Given the description of an element on the screen output the (x, y) to click on. 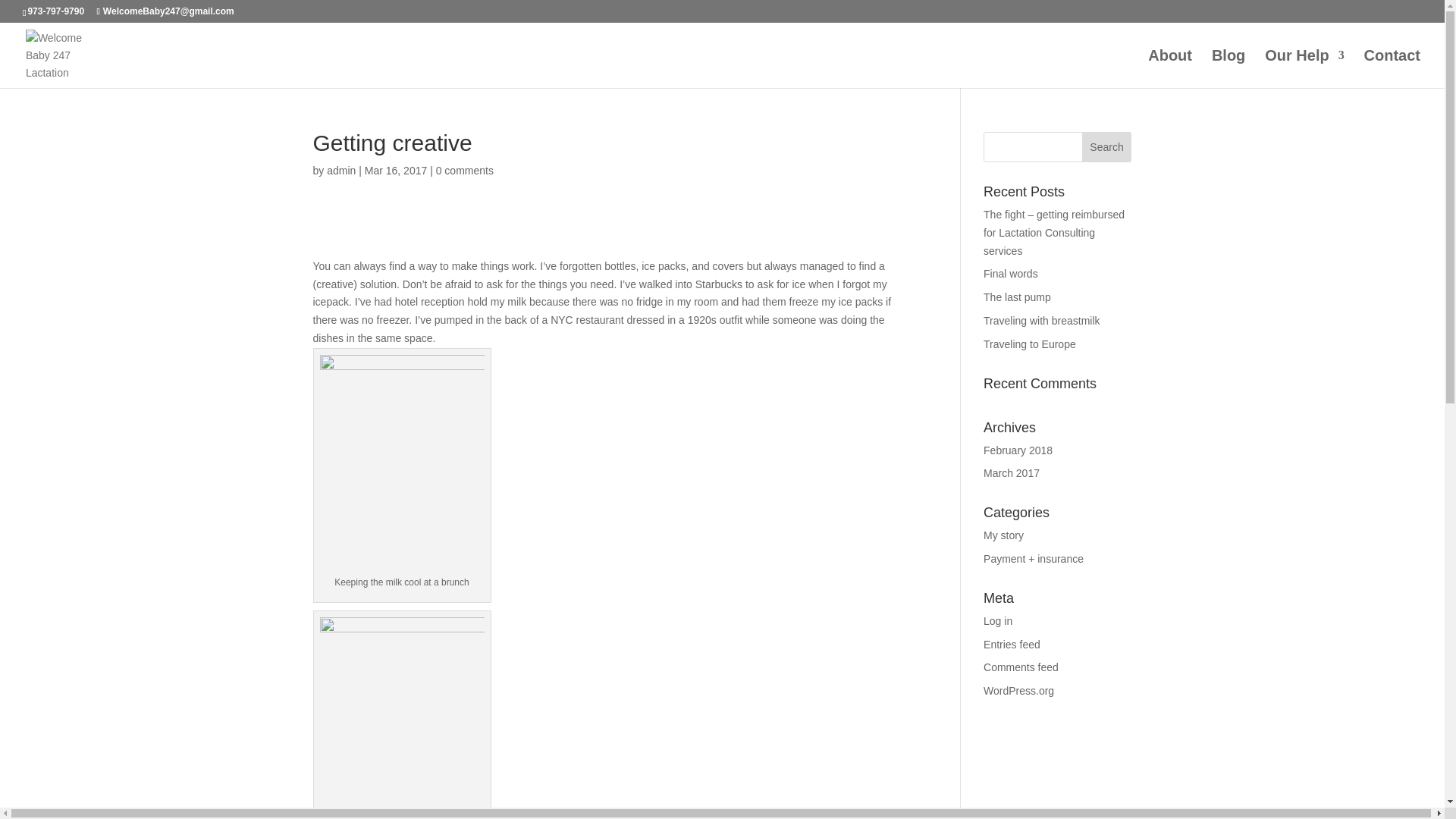
Traveling to Europe (1029, 344)
About (1170, 68)
Our Help (1304, 68)
My story (1003, 535)
February 2018 (1018, 450)
Traveling with breastmilk (1042, 320)
Comments feed (1021, 666)
Log in (997, 621)
Entries feed (1012, 644)
0 comments (464, 170)
